Given the description of an element on the screen output the (x, y) to click on. 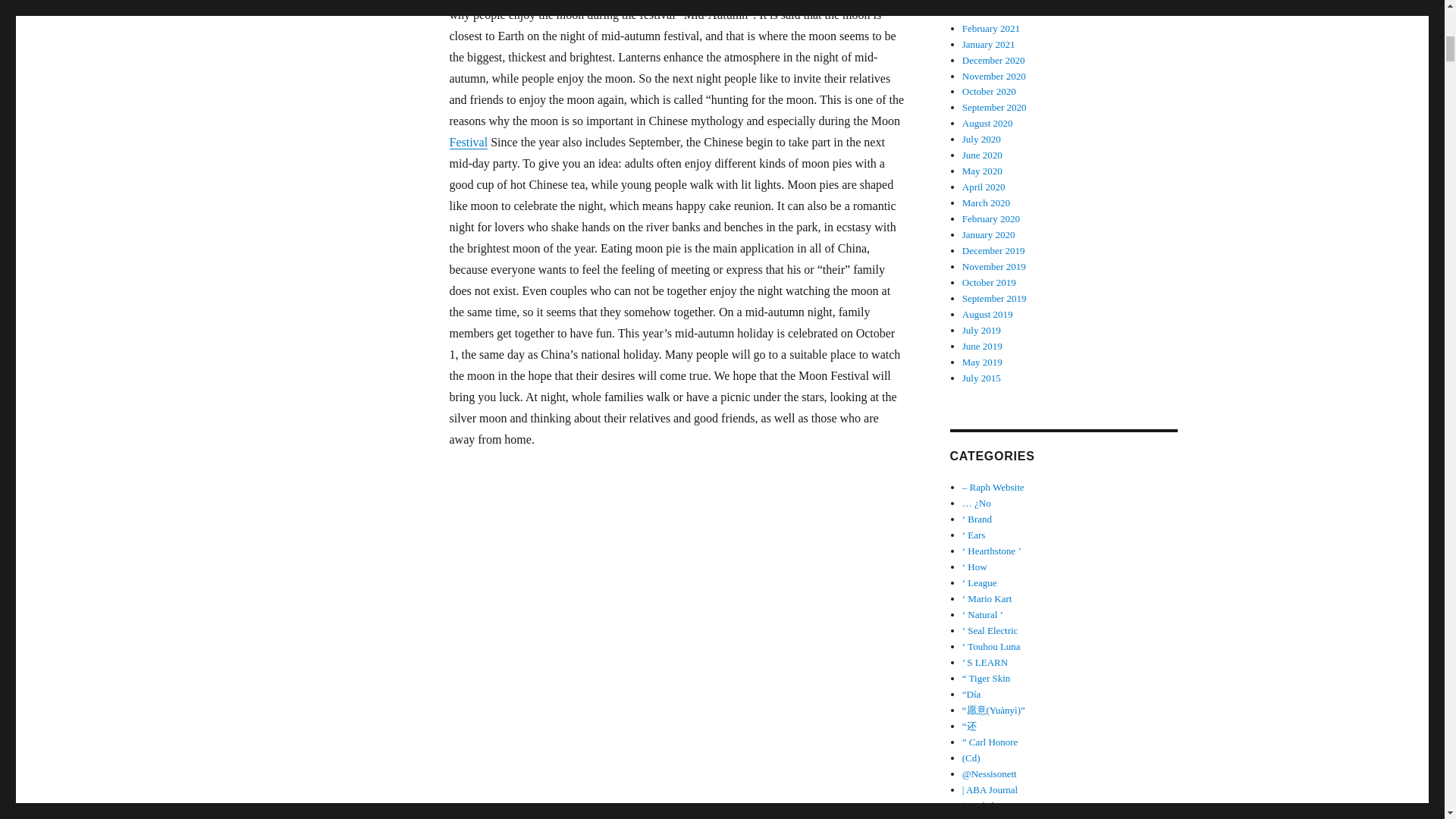
July 2020 (981, 138)
January 2020 (988, 234)
March 2020 (986, 202)
May 2020 (982, 170)
October 2020 (989, 91)
February 2021 (991, 28)
November 2020 (994, 75)
June 2020 (982, 154)
April 2020 (984, 186)
February 2020 (991, 218)
